Given the description of an element on the screen output the (x, y) to click on. 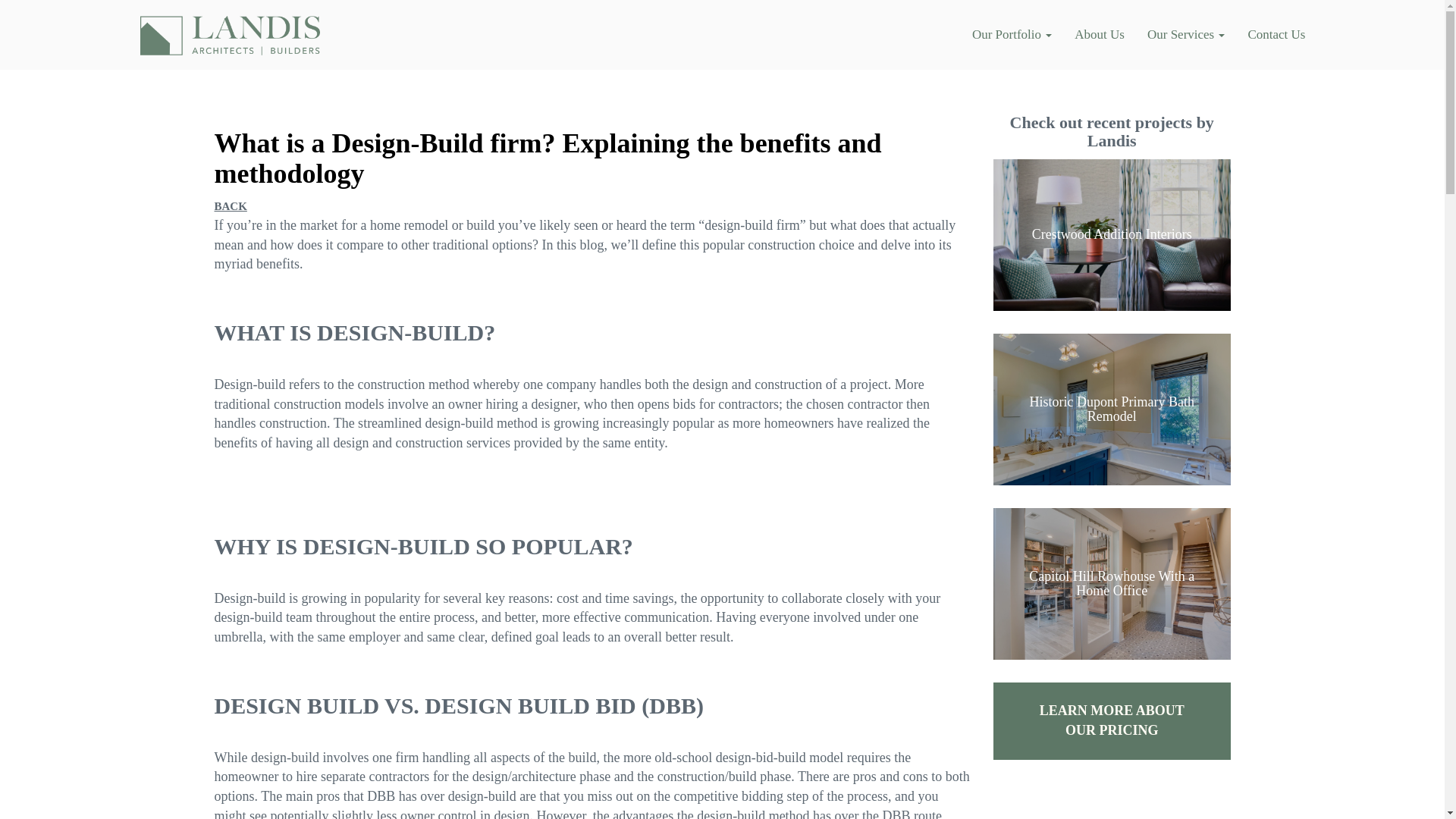
About Us (1098, 34)
Our Portfolio (1011, 34)
LEARN MORE ABOUT OUR PRICING (1111, 720)
Historic Dupont Primary Bath Remodel (1111, 409)
Our Services (1185, 34)
Crestwood Addition Interiors (1111, 234)
BACK (230, 205)
Contact Us (1276, 34)
Capitol Hill Rowhouse With a Home Office (1111, 583)
